Given the description of an element on the screen output the (x, y) to click on. 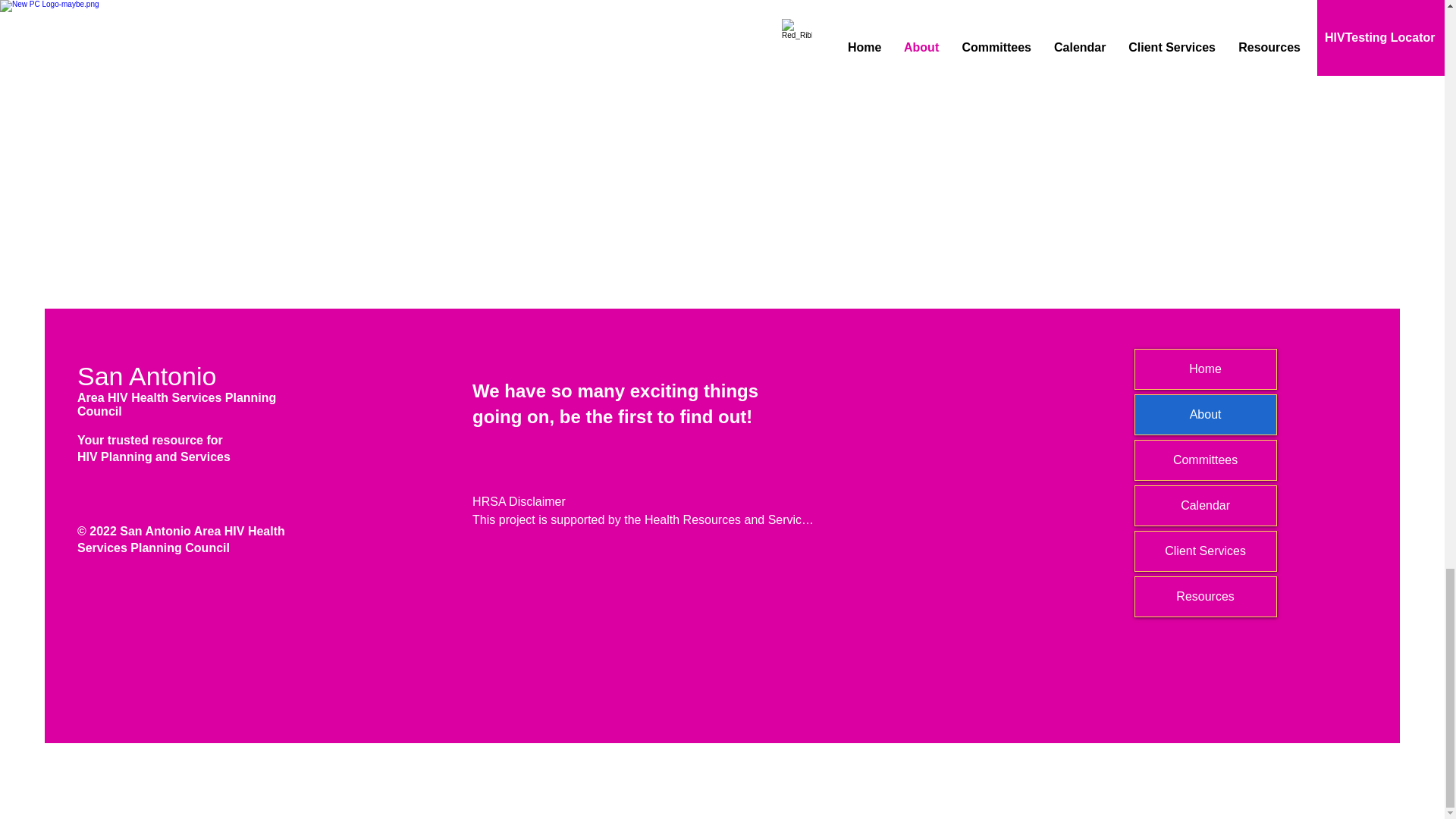
About (1205, 414)
Home (1205, 369)
Area HIV Health Services Planning Council (176, 404)
San Antonio (146, 375)
